Given the description of an element on the screen output the (x, y) to click on. 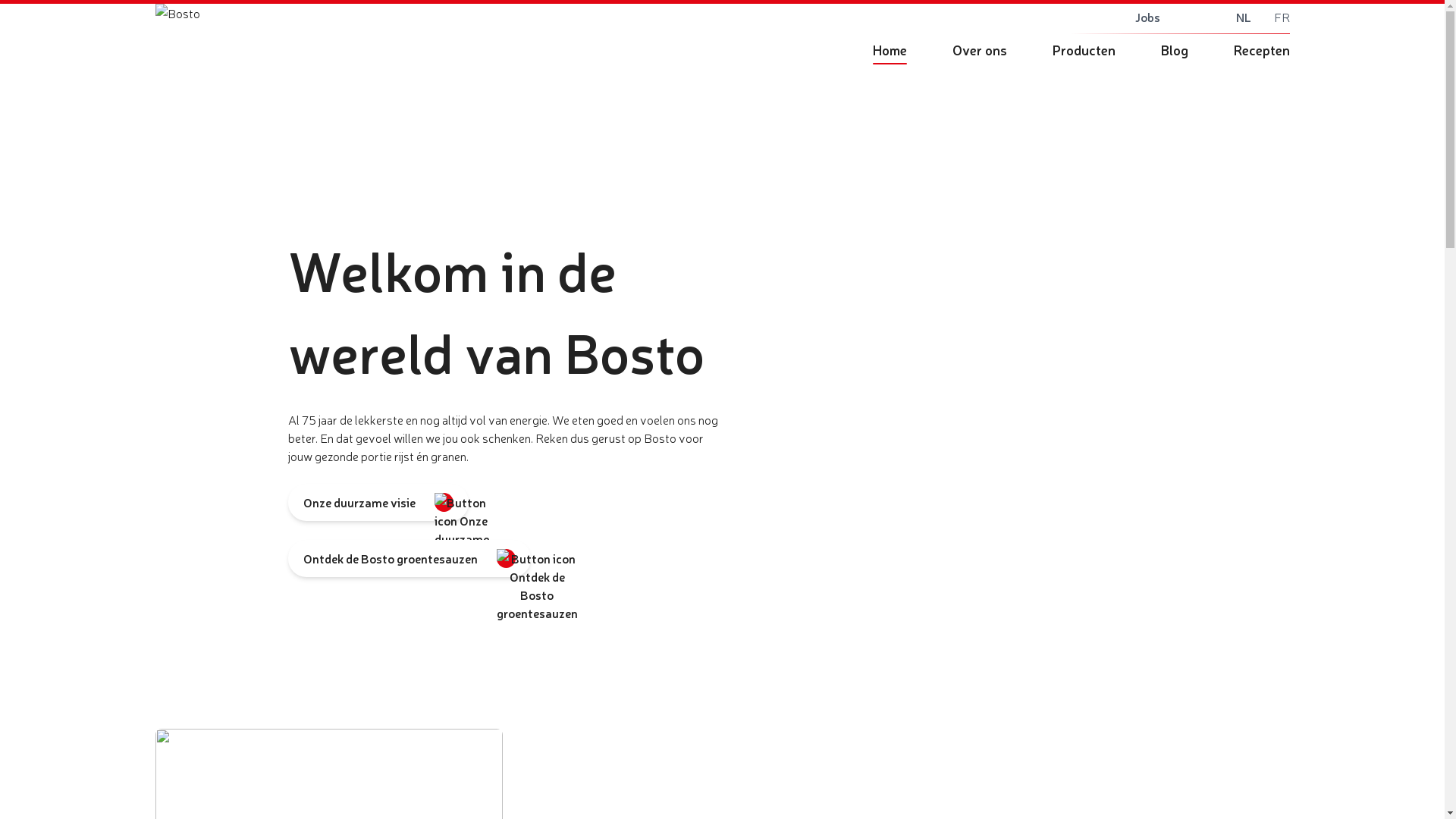
Ontdek de Bosto groentesauzen Element type: text (409, 558)
FR Element type: text (1281, 16)
Home Bosto Element type: hover (501, 41)
instagram Element type: text (1049, 16)
Recepten Element type: text (1253, 49)
Jobs Element type: text (1146, 16)
Blog Element type: text (1173, 49)
Over ons Element type: text (979, 49)
facebook Element type: text (1006, 16)
Onze duurzame visie Element type: text (378, 501)
Producten Element type: text (1083, 49)
Home Element type: text (888, 49)
